Given the description of an element on the screen output the (x, y) to click on. 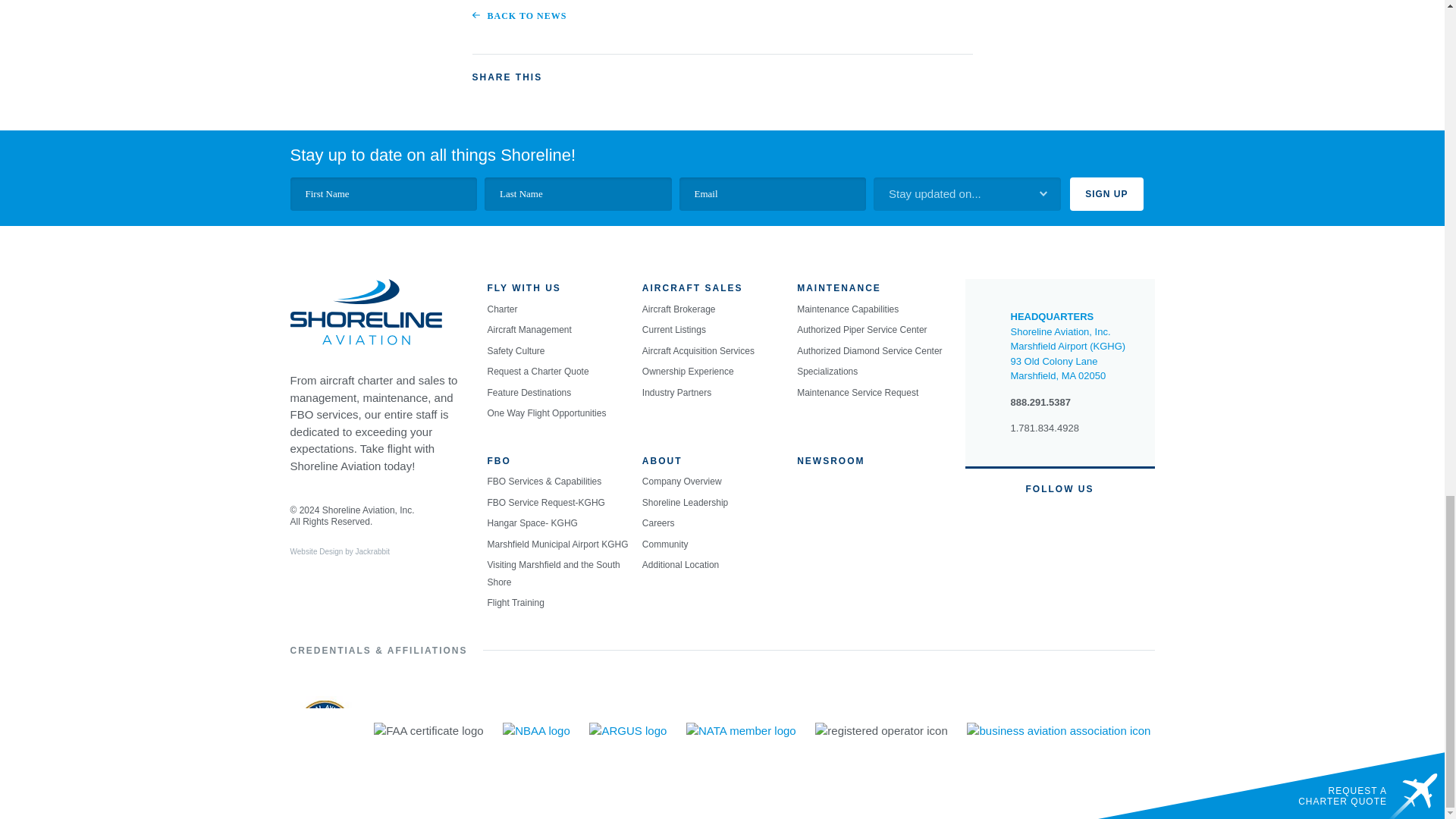
Website Design by Jackrabbit (315, 551)
Website Design by Jackrabbit (372, 551)
Sign Up (1106, 193)
